Given the description of an element on the screen output the (x, y) to click on. 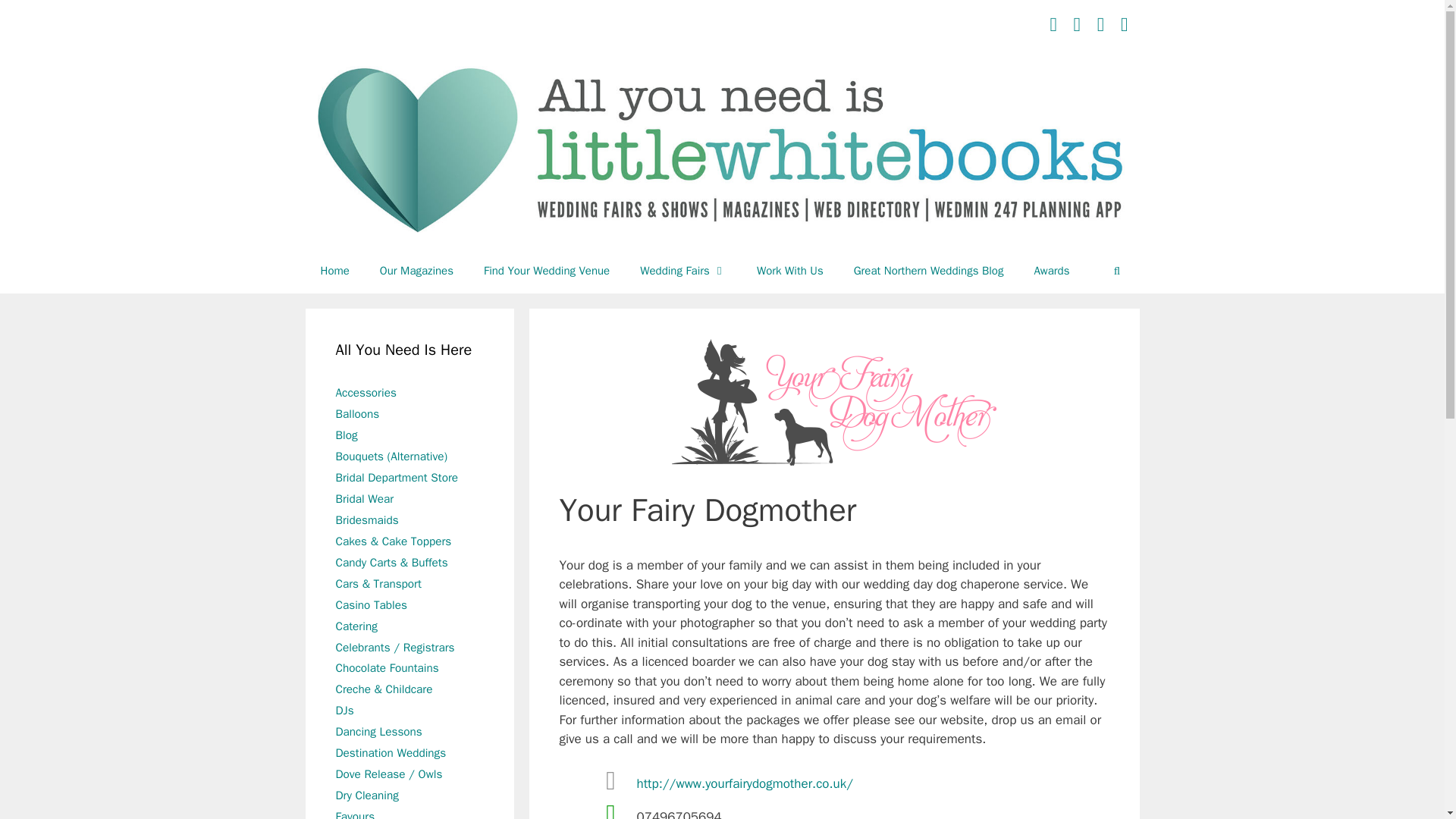
Home (334, 270)
